Given the description of an element on the screen output the (x, y) to click on. 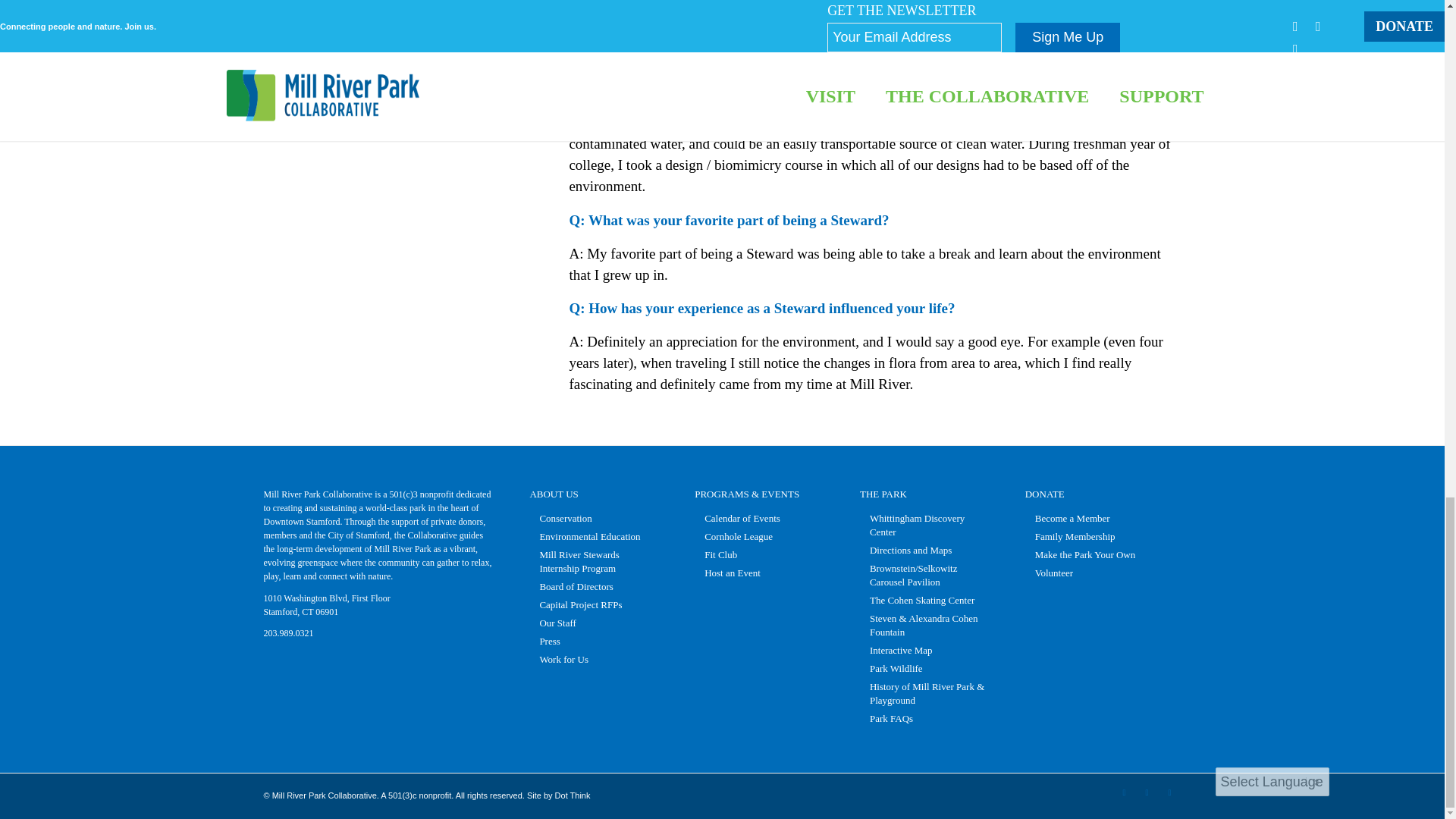
Instagram (1169, 792)
Twitter (1146, 792)
Facebook (1124, 792)
onethird (410, 40)
